Given the description of an element on the screen output the (x, y) to click on. 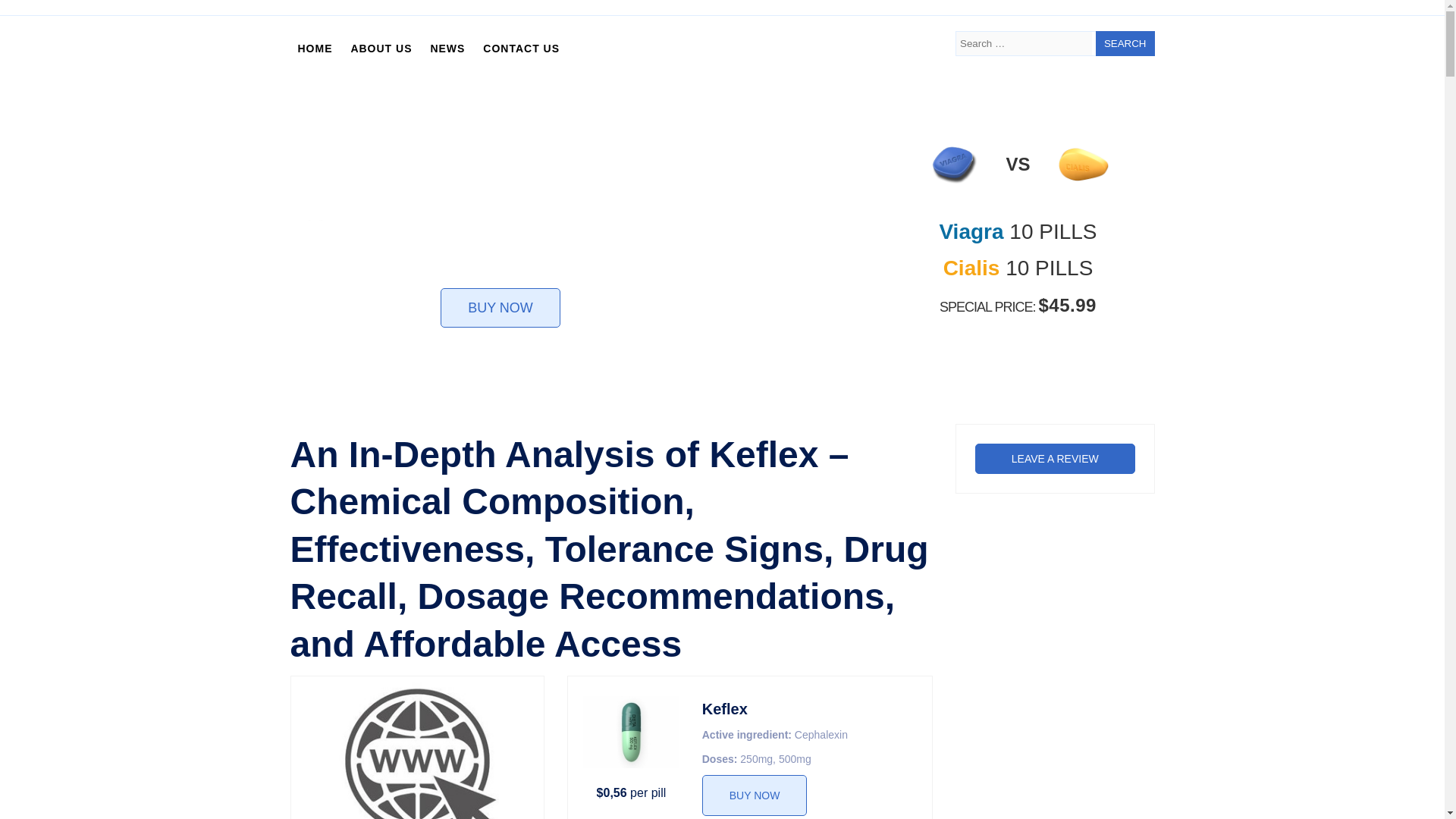
SEARCH (1125, 43)
HOME (314, 48)
Buy Now (754, 794)
Leave a Review (1055, 458)
LEAVE A REVIEW (1055, 458)
CONTACT US (521, 48)
ABOUT US (380, 48)
BUY NOW (754, 794)
NEWS (446, 48)
